Given the description of an element on the screen output the (x, y) to click on. 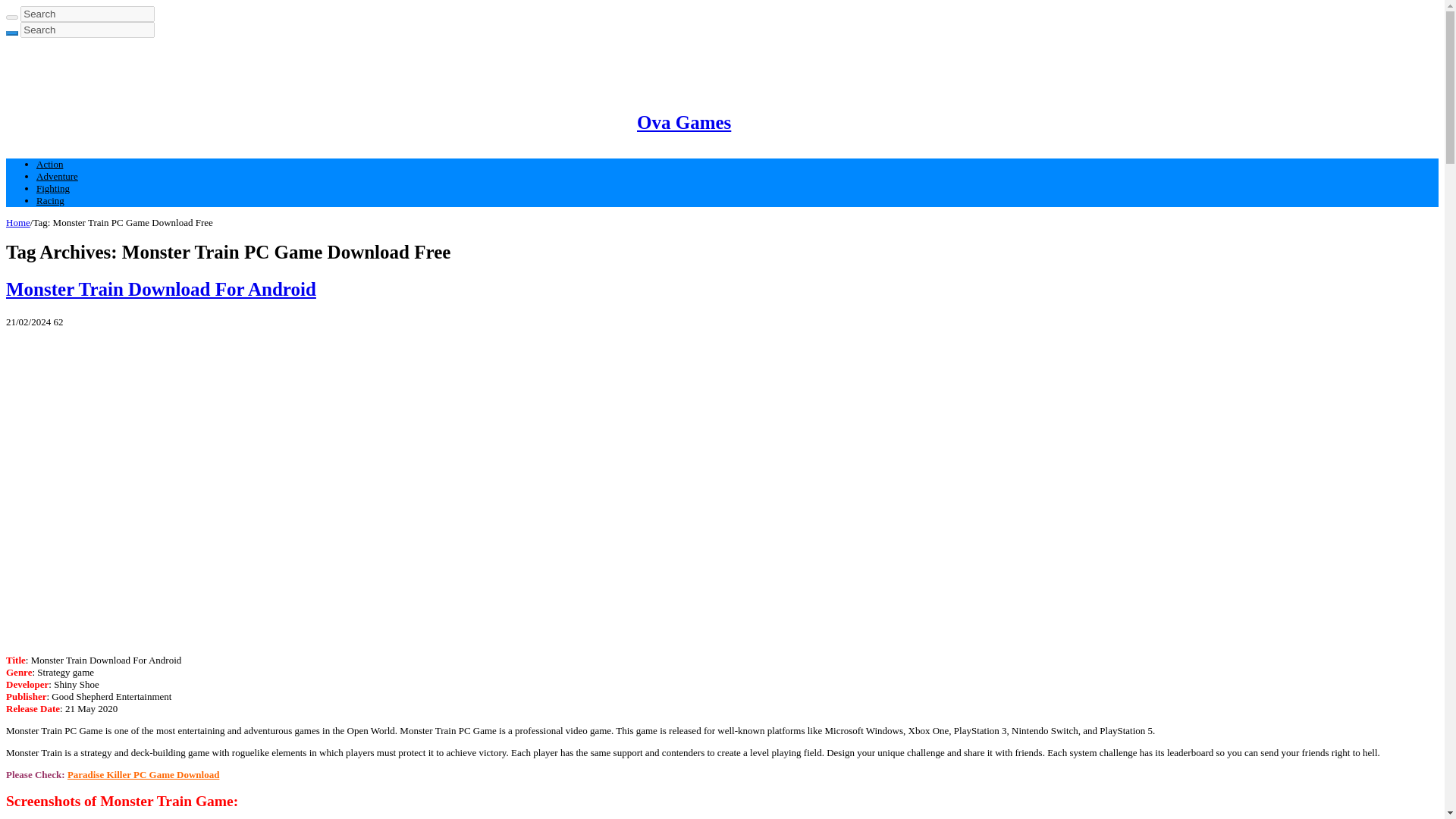
Monster Train Download For Android (160, 289)
Search (11, 33)
Fighting (52, 188)
Adventure (57, 175)
Ova Games (370, 122)
Search (87, 29)
Search (87, 29)
Search (87, 13)
Paradise Killer PC Game Download (142, 774)
Ova Games (370, 122)
Action (49, 163)
Home (17, 222)
Search (87, 13)
Search (87, 29)
Search (11, 17)
